Given the description of an element on the screen output the (x, y) to click on. 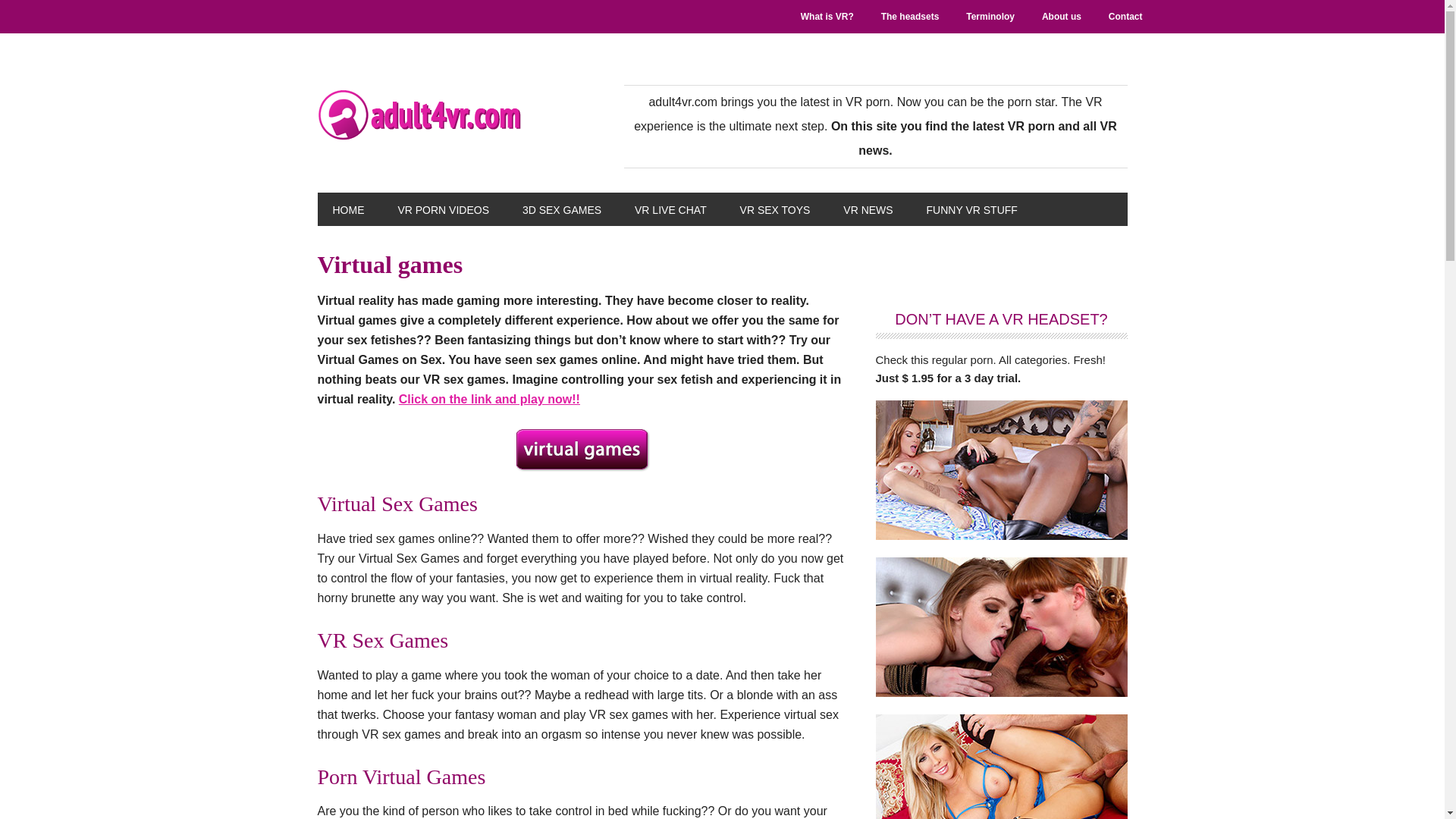
What is VR? (827, 16)
HOME (347, 209)
3D SEX GAMES (560, 209)
About us (1061, 16)
VR LIVE CHAT (671, 209)
Terminoloy (989, 16)
VR NEWS (867, 209)
VR SEX TOYS (775, 209)
FUNNY VR STUFF (971, 209)
ADULT4VR.COM (419, 115)
VR PORN VIDEOS (442, 209)
The headsets (910, 16)
Contact (1125, 16)
Click on the link and play now!! (488, 399)
